Given the description of an element on the screen output the (x, y) to click on. 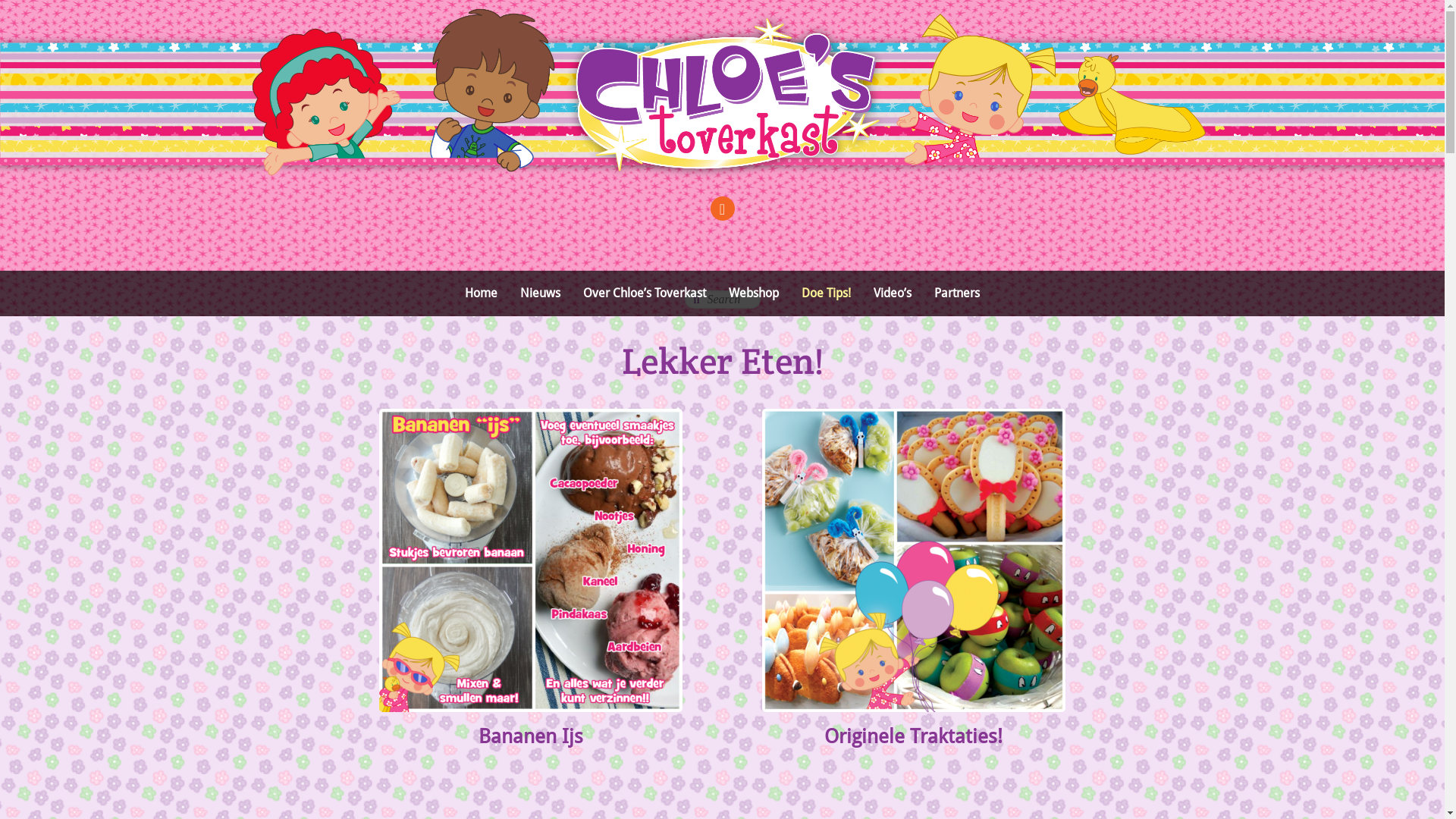
Nieuws Element type: text (540, 293)
Doe Tips! Element type: text (825, 293)
Chloe's Toverkast Element type: hover (722, 211)
Originele Traktaties! Element type: text (913, 735)
Home Element type: text (480, 293)
Webshop Element type: text (753, 293)
Chloe's Toverkast Element type: hover (722, 114)
Partners Element type: text (956, 293)
Bananen Ijs Element type: text (530, 735)
